Given the description of an element on the screen output the (x, y) to click on. 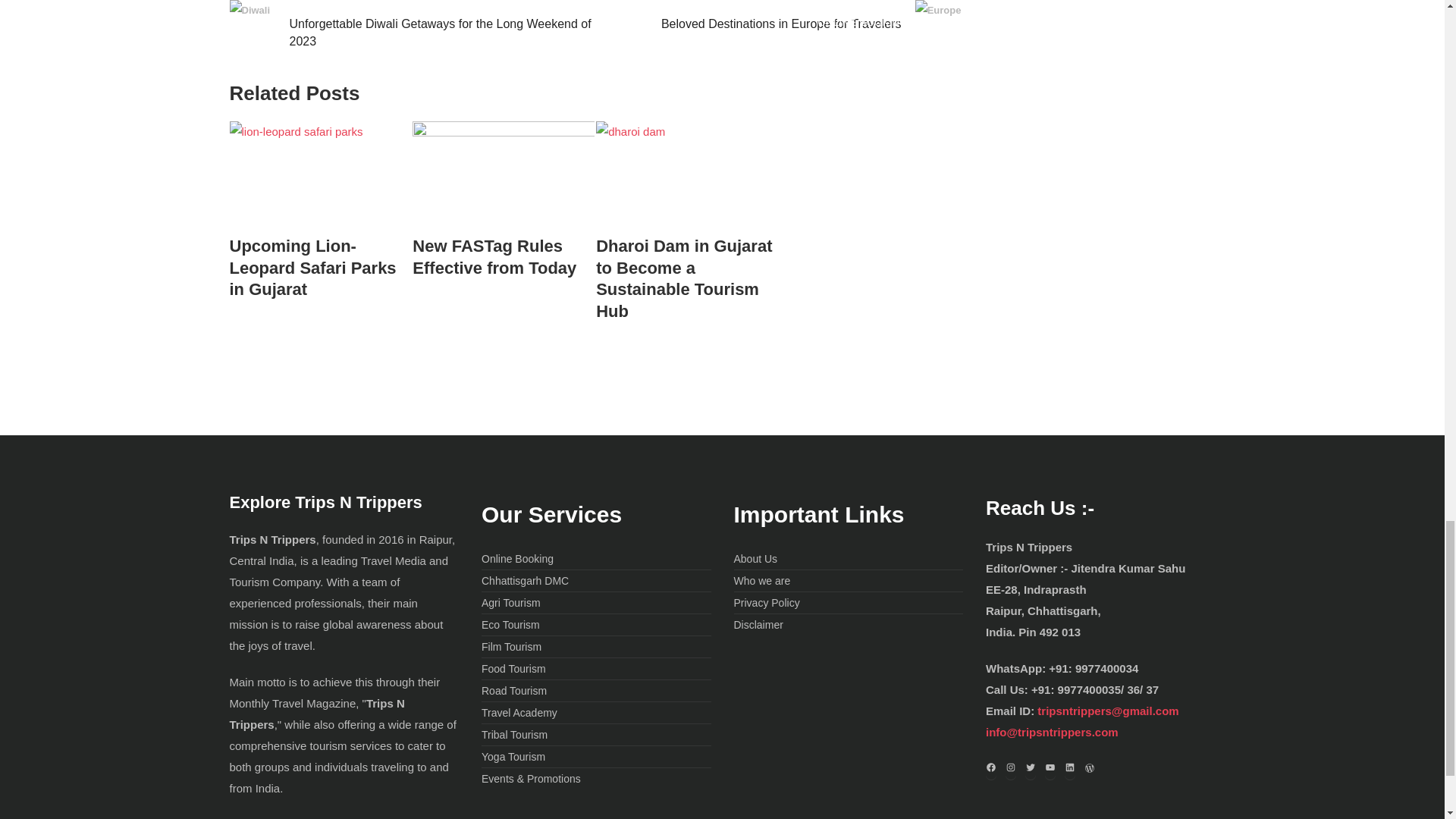
New FASTag Rules Effective from Today (503, 257)
Dharoi Dam in Gujarat to Become a Sustainable Tourism Hub (686, 278)
Upcoming Lion-Leopard Safari Parks in Gujarat (319, 268)
